Given the description of an element on the screen output the (x, y) to click on. 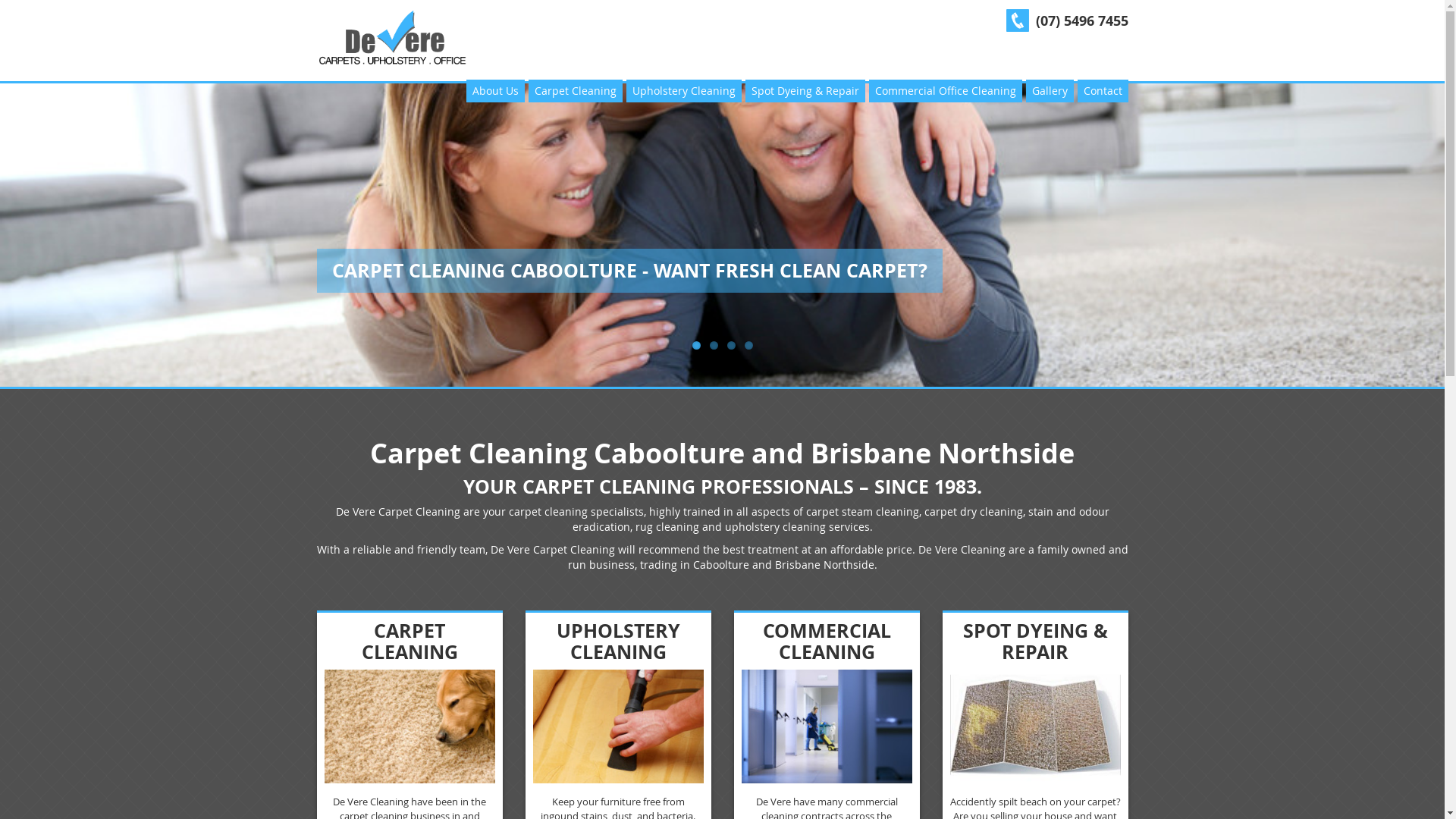
3 Element type: text (730, 345)
Contact Element type: text (1101, 90)
About Us Element type: text (494, 90)
1 Element type: text (695, 345)
Gallery Element type: text (1049, 90)
2 Element type: text (713, 345)
4 Element type: text (748, 345)
Carpet Cleaning Element type: text (574, 90)
Commercial Office Cleaning Element type: text (945, 90)
Spot Dyeing & Repair Element type: text (804, 90)
Upholstery Cleaning Element type: text (683, 90)
